Given the description of an element on the screen output the (x, y) to click on. 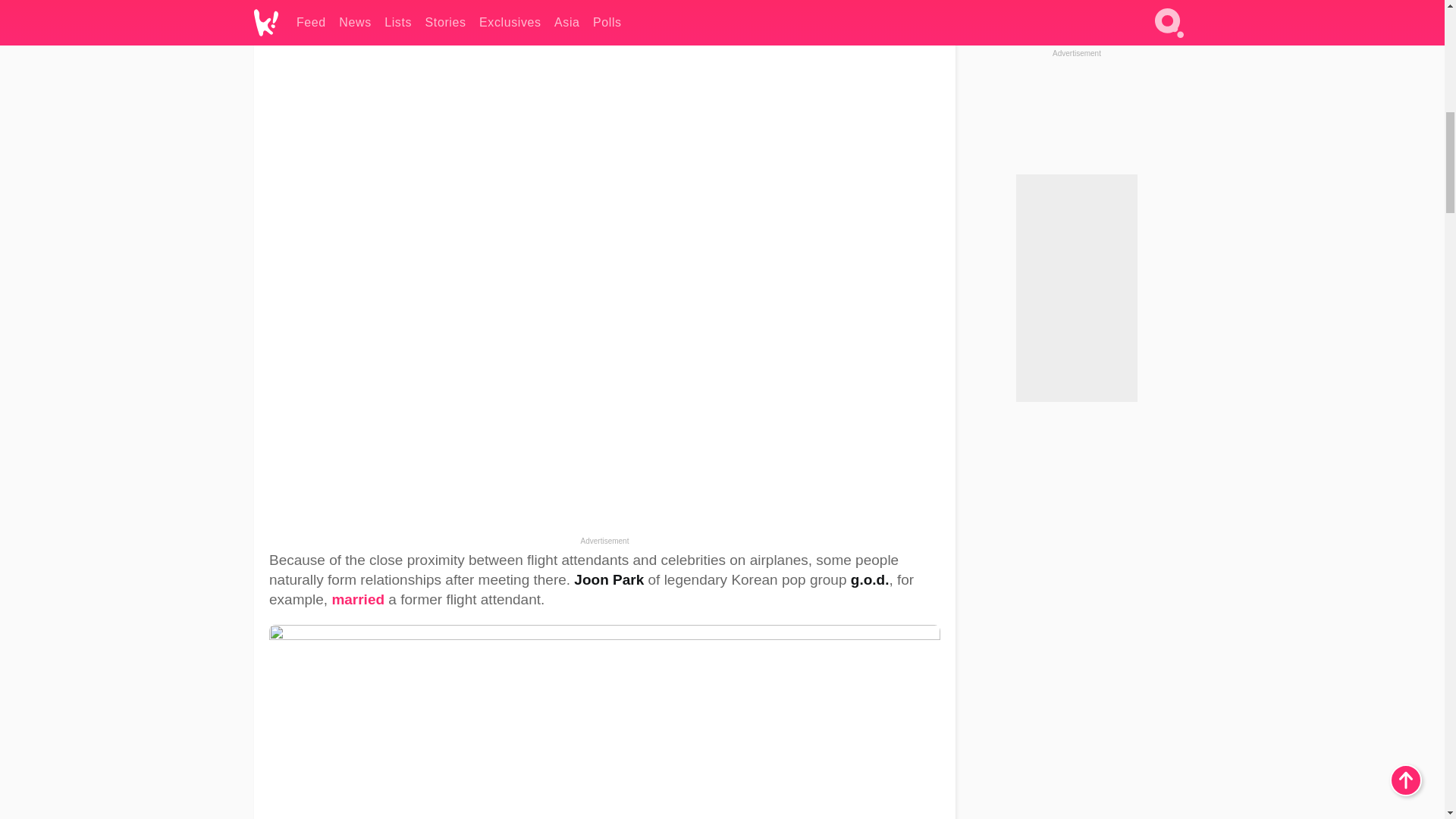
married (357, 599)
